Given the description of an element on the screen output the (x, y) to click on. 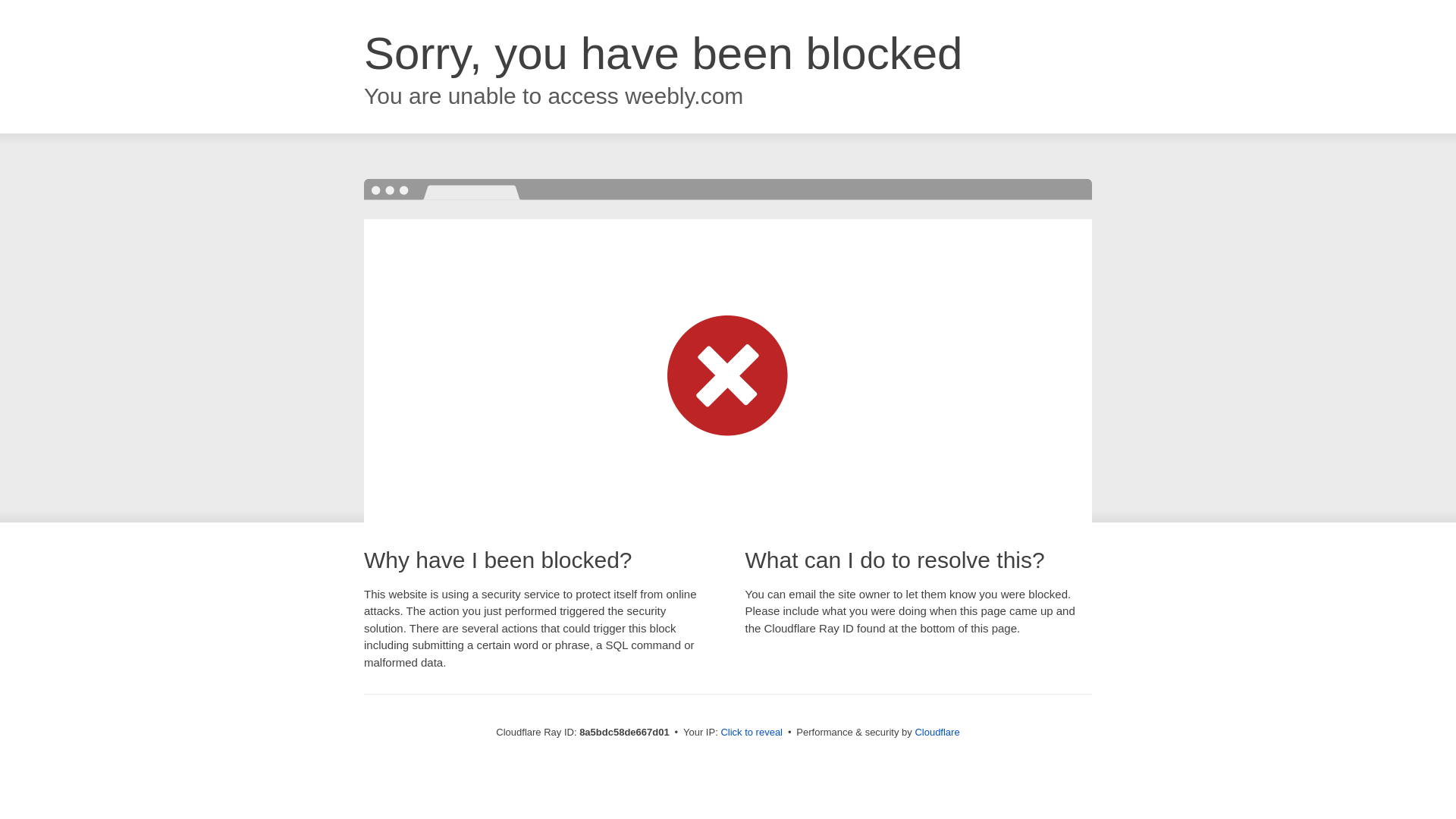
Cloudflare (936, 731)
Click to reveal (751, 732)
